Given the description of an element on the screen output the (x, y) to click on. 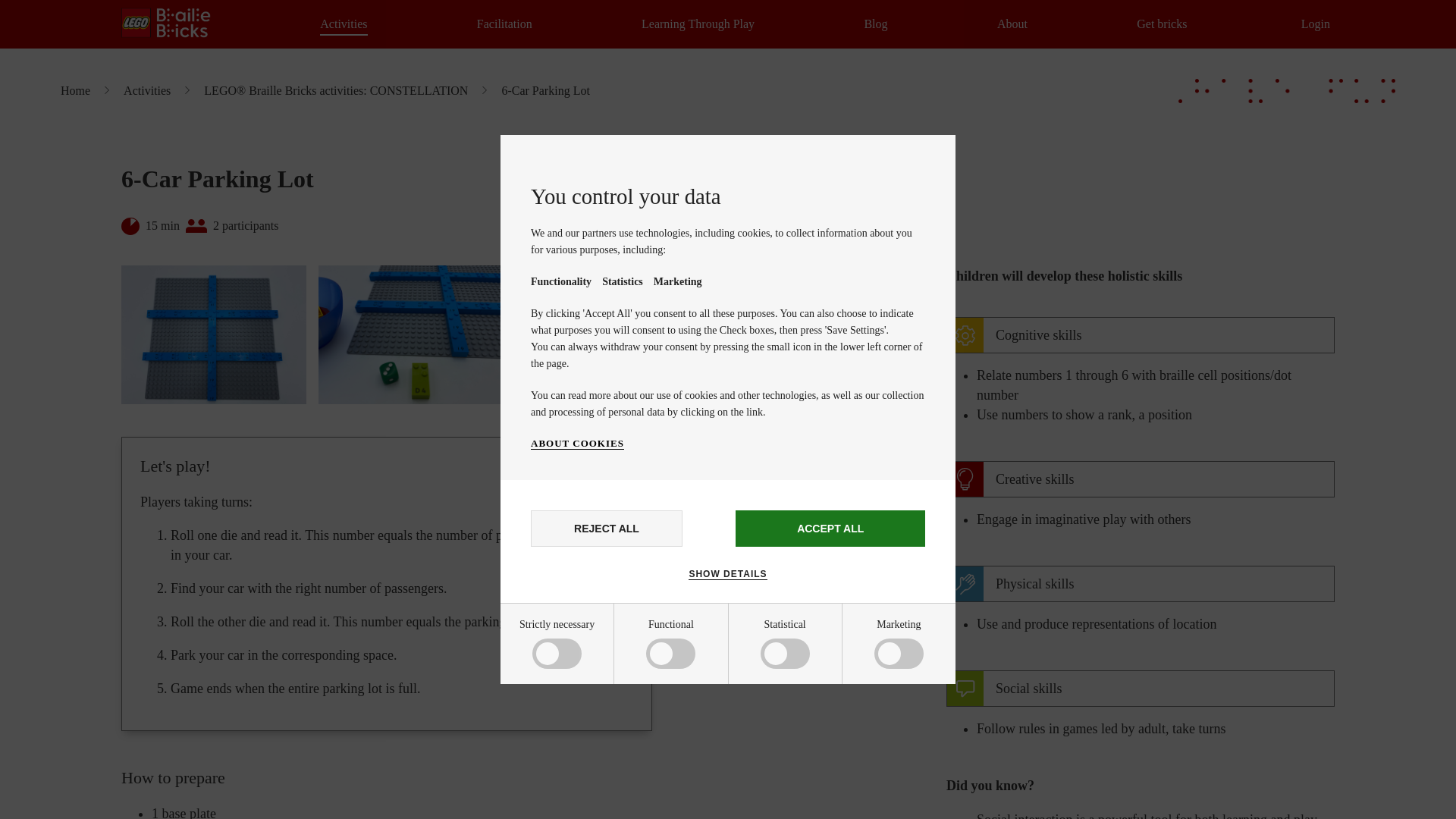
SHOW DETAILS (727, 573)
About (1012, 24)
REJECT ALL (606, 528)
ACCEPT ALL (829, 528)
Blog (874, 24)
Facilitation (504, 24)
Strictly necessary (585, 657)
Statistical (585, 766)
Marketing (585, 809)
ABOUT COOKIES (577, 443)
Learning Through Play (698, 24)
Functional (585, 714)
Activities (343, 24)
